Given the description of an element on the screen output the (x, y) to click on. 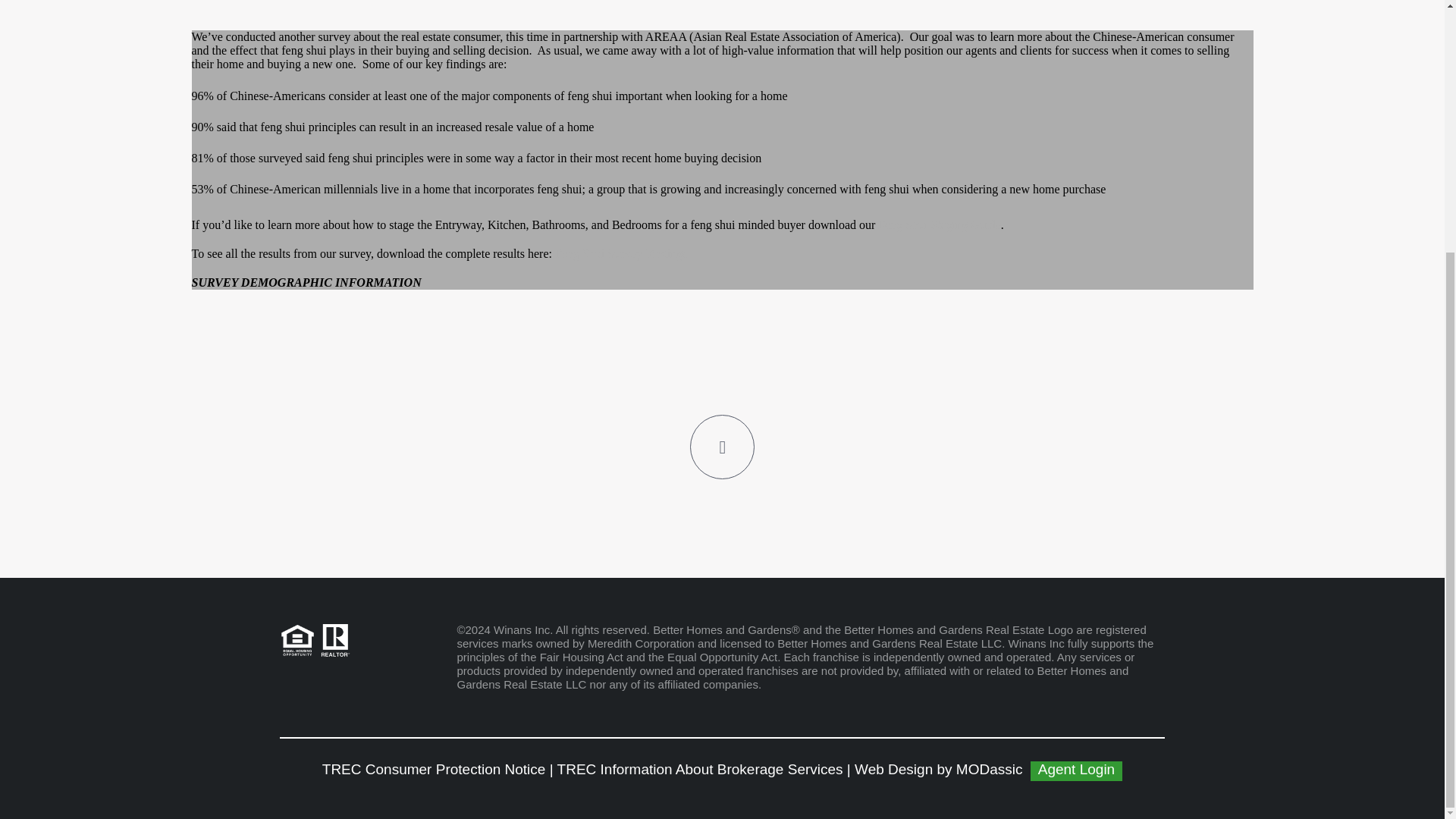
Feng Shui Staging Guide (938, 224)
TREC Consumer Protection Notice (433, 769)
TREC Information About Brokerage Services (700, 769)
Agent Login (1076, 771)
Feng Shui Survey Findings (620, 253)
Submit (722, 182)
